Given the description of an element on the screen output the (x, y) to click on. 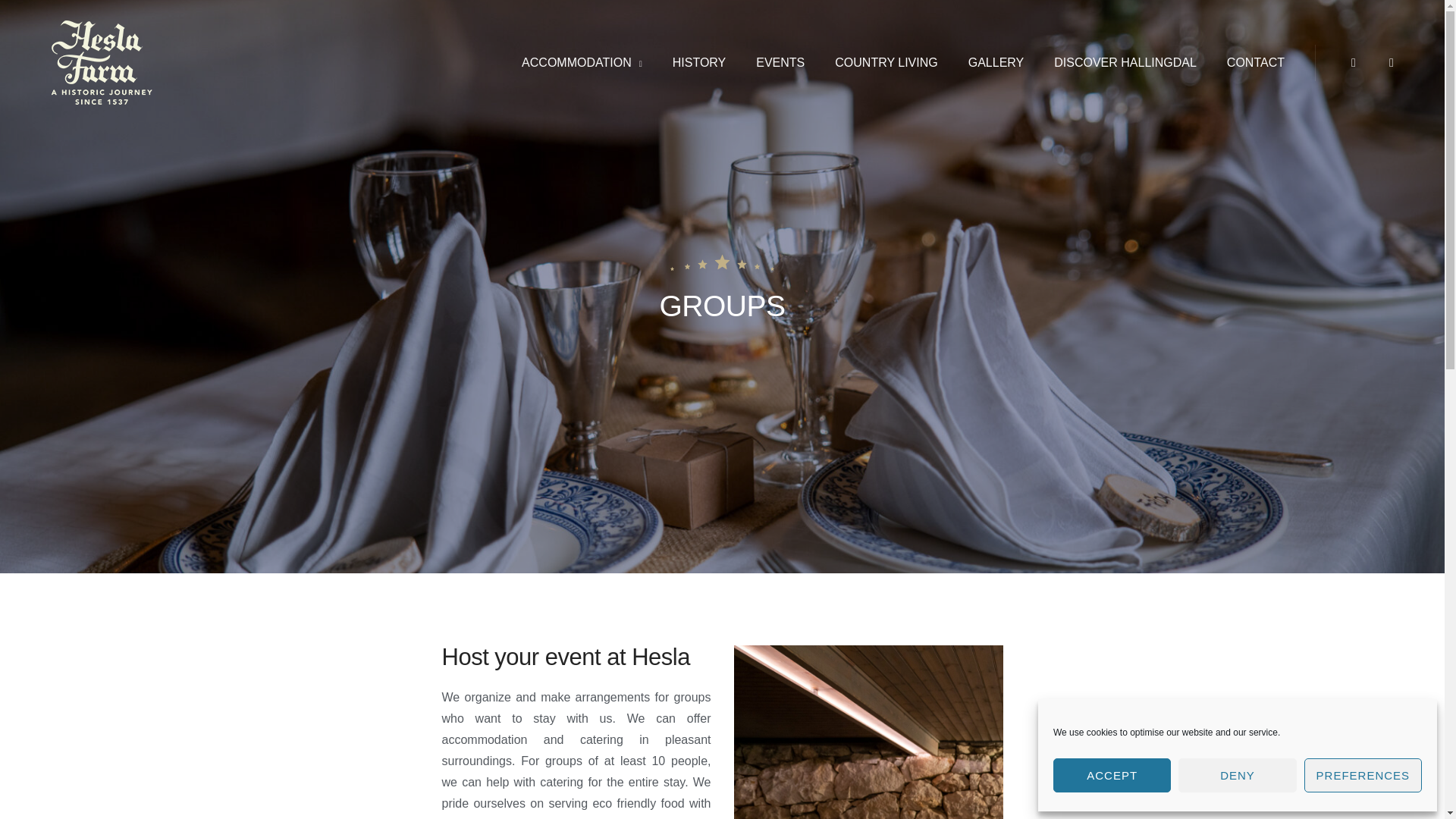
Hesla Farm (212, 70)
DENY (1236, 775)
COUNTRY LIVING (885, 62)
DISCOVER HALLINGDAL (1125, 62)
GALLERY (996, 62)
ACCEPT (1111, 775)
ACCOMMODATION (582, 62)
CONTACT (1255, 62)
HISTORY (699, 62)
PREFERENCES (1363, 775)
EVENTS (780, 62)
